Given the description of an element on the screen output the (x, y) to click on. 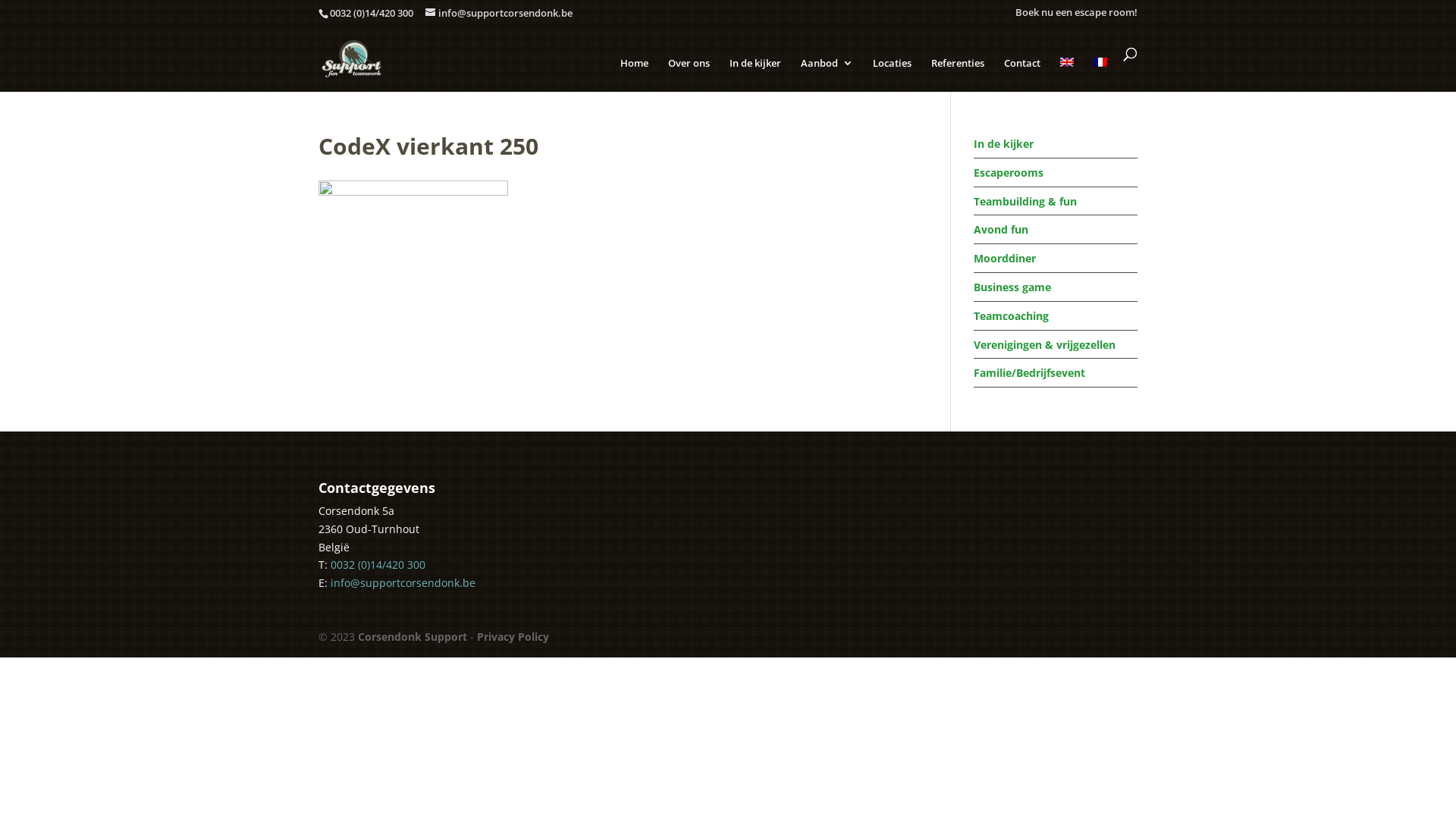
Avond fun Element type: text (1000, 229)
0032 (0)14/420 300 Element type: text (371, 12)
Teambuilding & fun Element type: text (1024, 201)
Verenigingen & vrijgezellen Element type: text (1044, 344)
Aanbod Element type: text (826, 73)
Over ons Element type: text (688, 73)
Referenties Element type: text (957, 73)
info@supportcorsendonk.be Element type: text (402, 582)
English Element type: hover (1066, 61)
Corsendonk Support Element type: text (412, 636)
In de kijker Element type: text (755, 73)
Contact Element type: text (1022, 73)
Privacy Policy Element type: text (512, 636)
info@supportcorsendonk.be Element type: text (498, 12)
Boek nu een escape room! Element type: text (1076, 12)
Teamcoaching Element type: text (1010, 315)
Escaperooms Element type: text (1008, 172)
In de kijker Element type: text (1003, 143)
Home Element type: text (634, 73)
Business game Element type: text (1012, 286)
0032 (0)14/420 300 Element type: text (377, 564)
Familie/Bedrijfsevent Element type: text (1029, 372)
Moorddiner Element type: text (1004, 258)
Locaties Element type: text (891, 73)
